Given the description of an element on the screen output the (x, y) to click on. 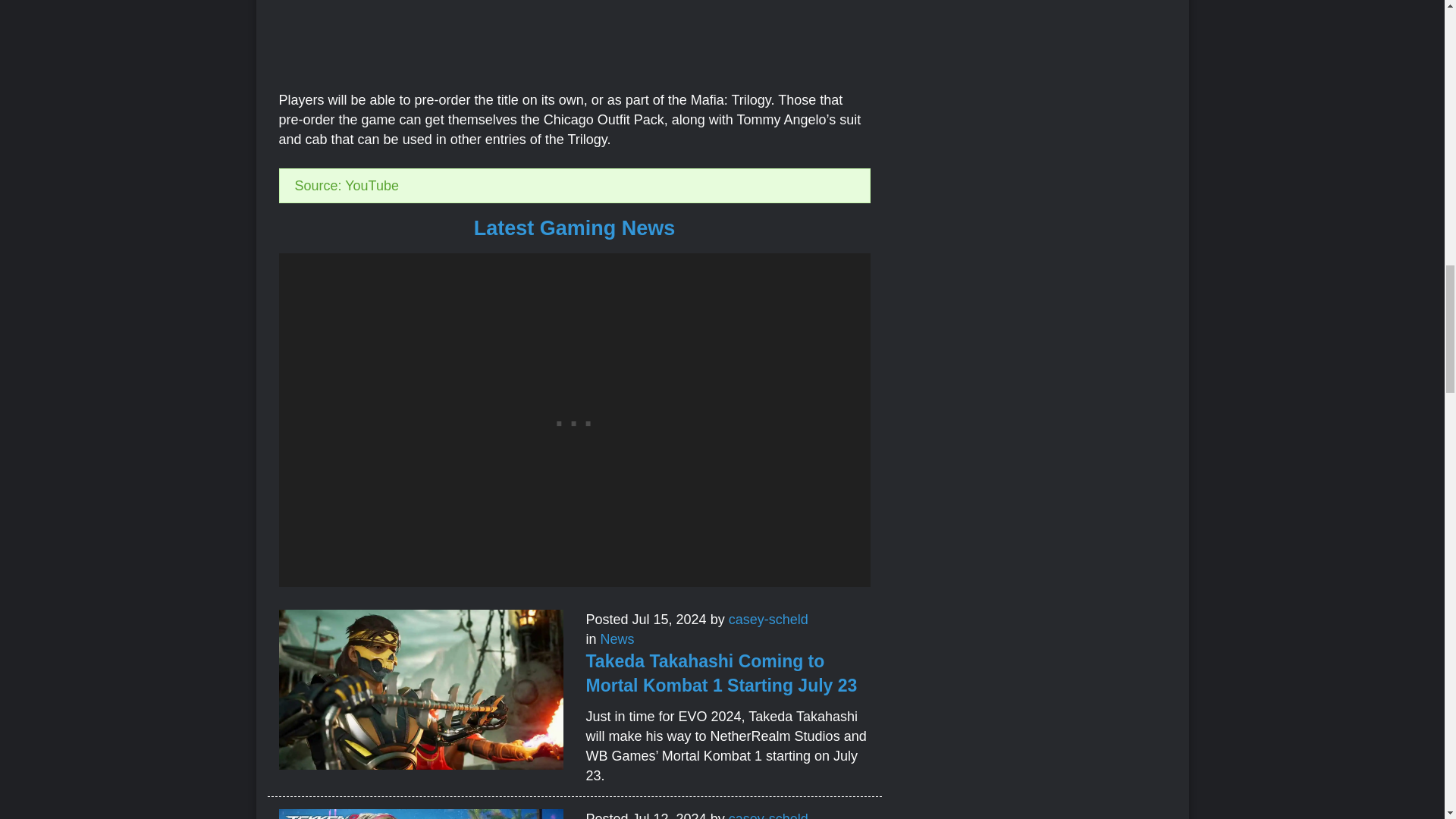
casey-scheld (768, 619)
Latest Gaming News (574, 228)
News (616, 639)
